Given the description of an element on the screen output the (x, y) to click on. 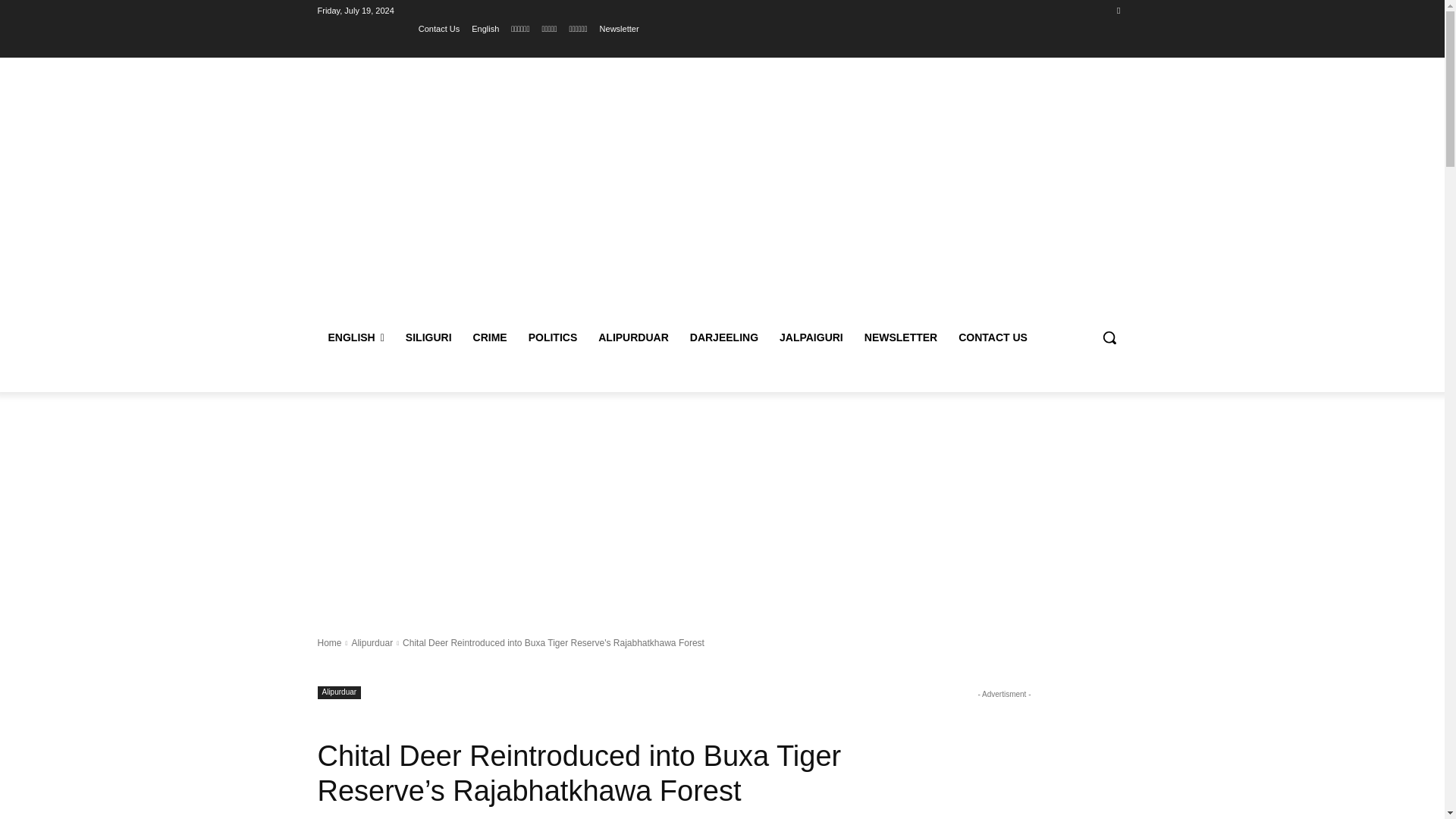
Alipurduar (371, 643)
Contact Us (439, 28)
CRIME (490, 337)
ENGLISH (355, 337)
Advertisement (846, 192)
ALIPURDUAR (633, 337)
Home (328, 643)
CONTACT US (992, 337)
SILIGURI (428, 337)
JALPAIGURI (810, 337)
View all posts in Alipurduar (371, 643)
NEWSLETTER (900, 337)
English (485, 28)
Alipurduar (339, 692)
Newsletter (619, 28)
